Given the description of an element on the screen output the (x, y) to click on. 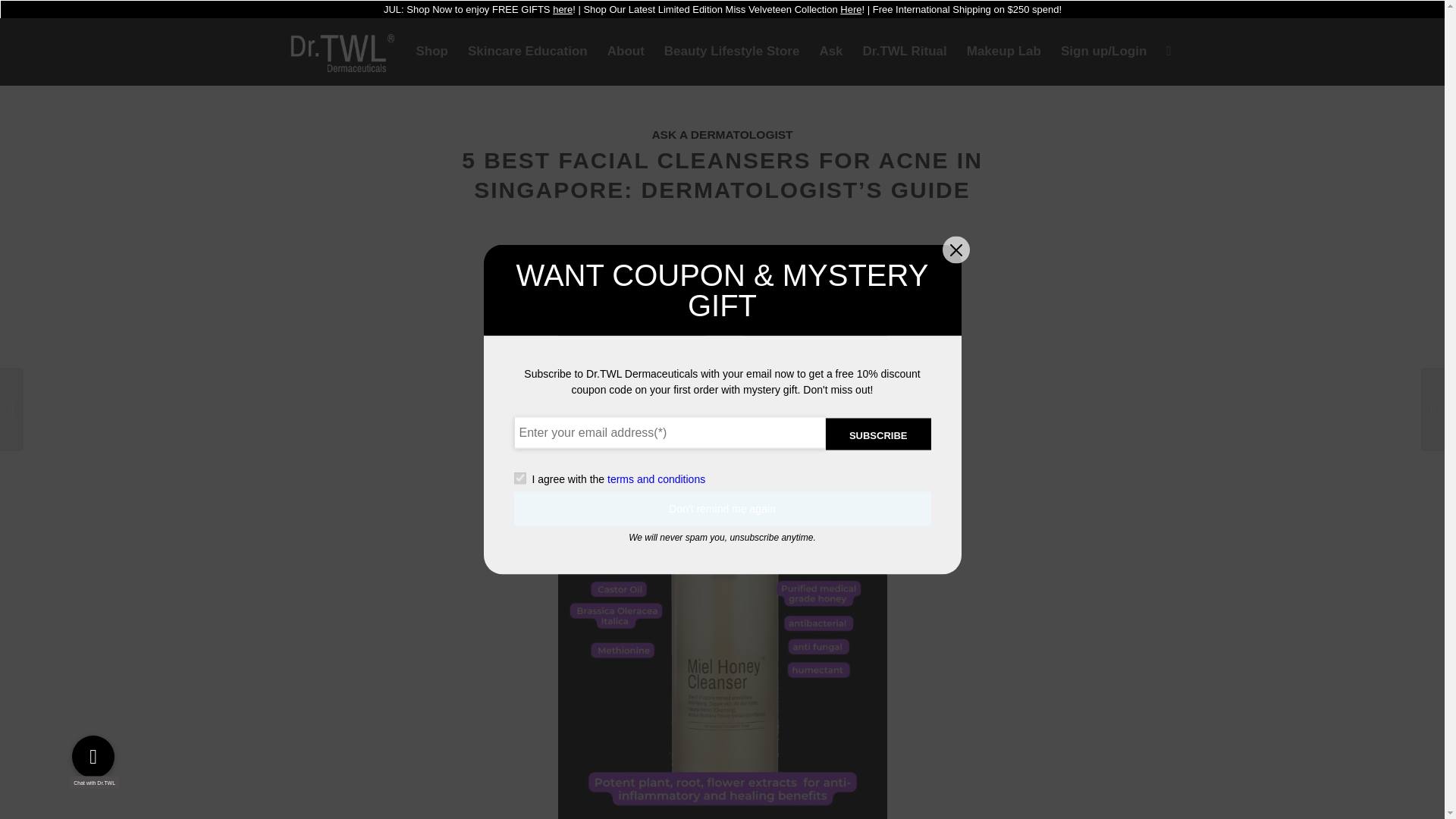
JUL: Shop Now to enjoy FREE GIFTS here! (479, 9)
on (519, 478)
